Given the description of an element on the screen output the (x, y) to click on. 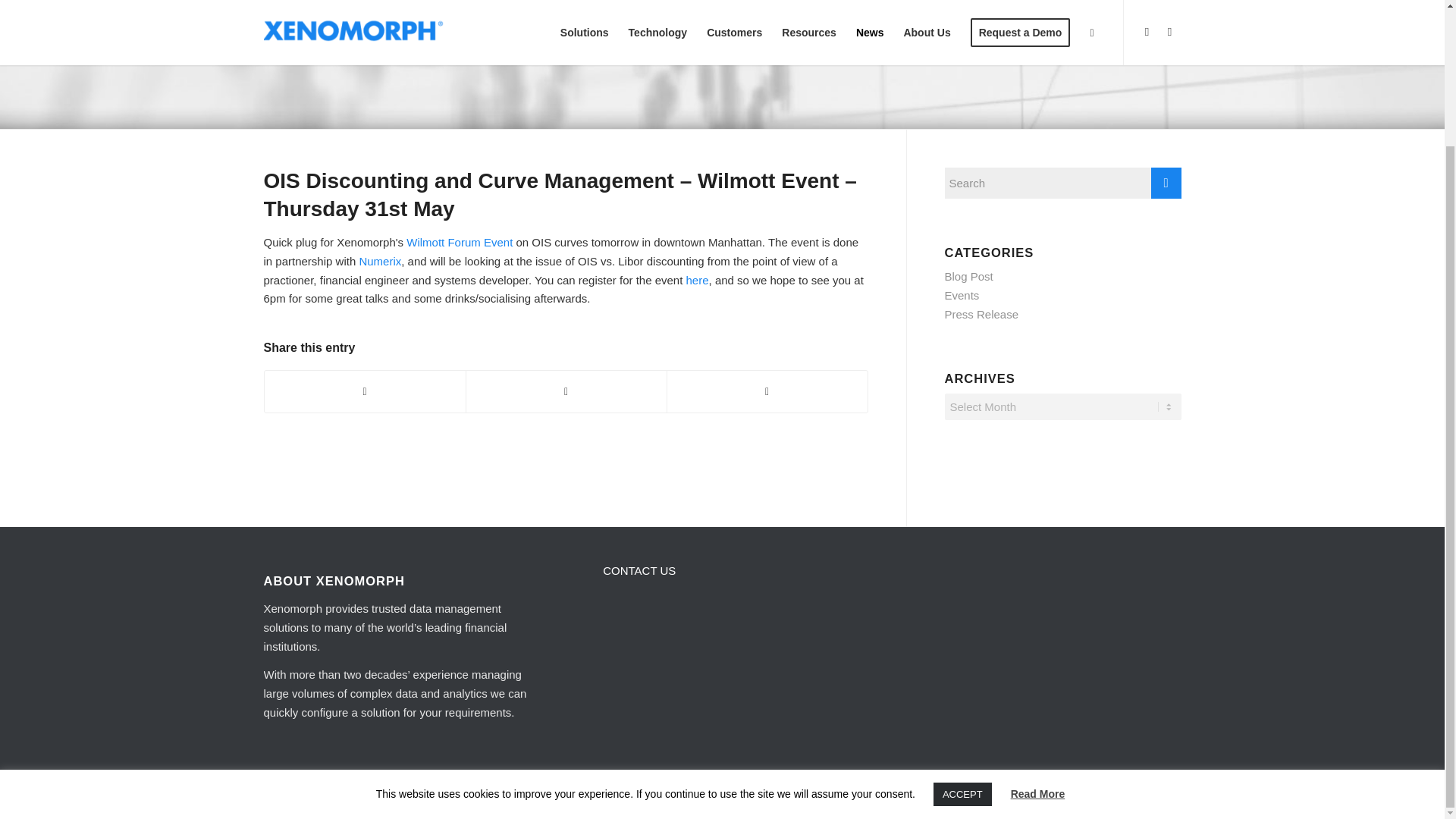
Blog Post (968, 276)
Anti-Bribery Policy (480, 797)
Events (961, 295)
OIS Discounting and Curve Management - event details (459, 241)
Numerix (379, 260)
Read More (1037, 625)
Numerix home page (379, 260)
CONTACT US (638, 570)
Press Release (981, 314)
Privacy policy (415, 797)
